Given the description of an element on the screen output the (x, y) to click on. 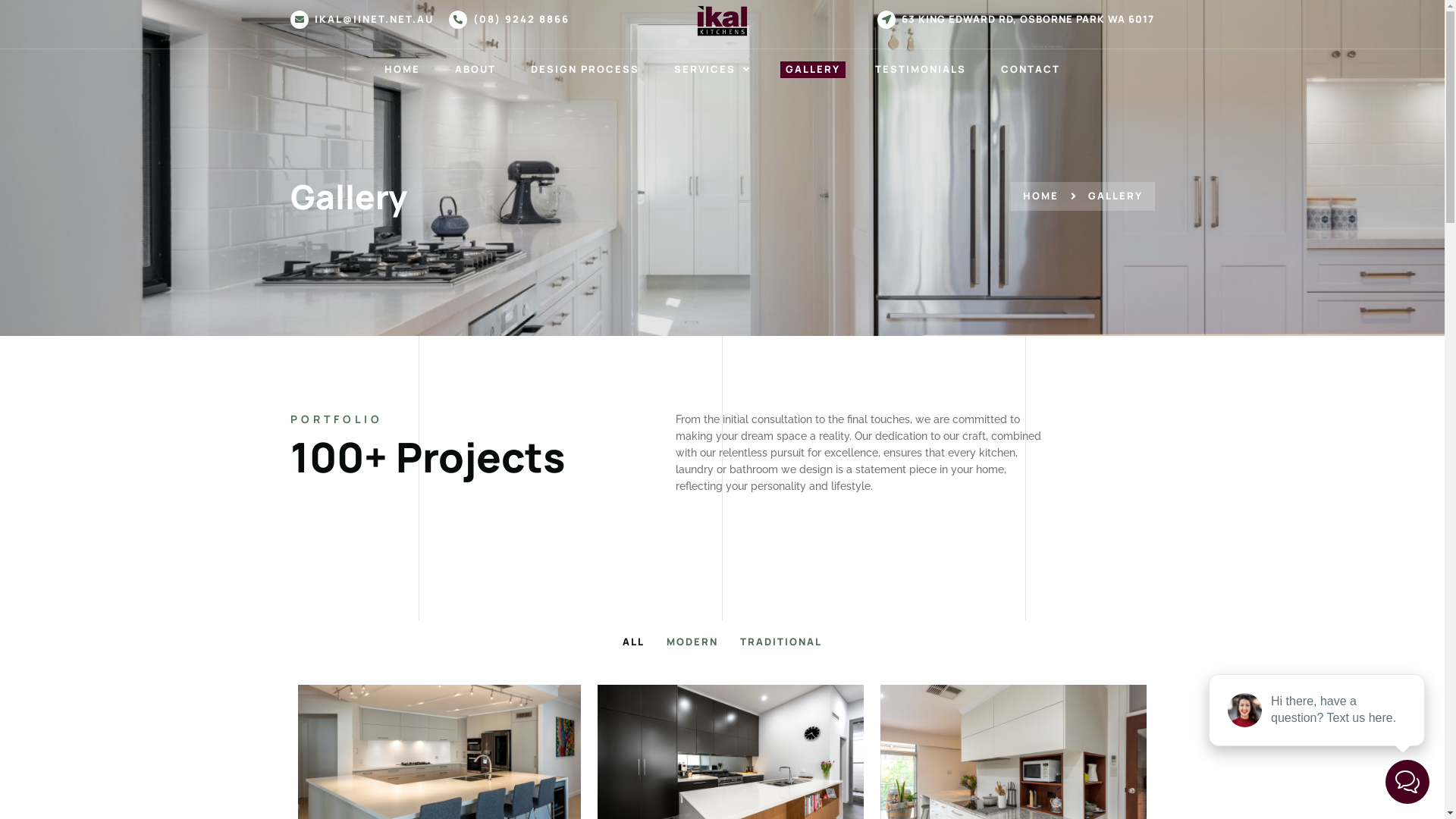
TESTIMONIALS Element type: text (920, 69)
ABOUT Element type: text (475, 69)
HOME Element type: text (1040, 196)
GALLERY Element type: text (812, 69)
DESIGN PROCESS Element type: text (584, 69)
SERVICES Element type: text (712, 69)
ALL Element type: text (633, 641)
CONTACT Element type: text (1030, 69)
GALLERY Element type: text (1106, 196)
MODERN Element type: text (691, 641)
TRADITIONAL Element type: text (780, 641)
HOME Element type: text (402, 69)
